Given the description of an element on the screen output the (x, y) to click on. 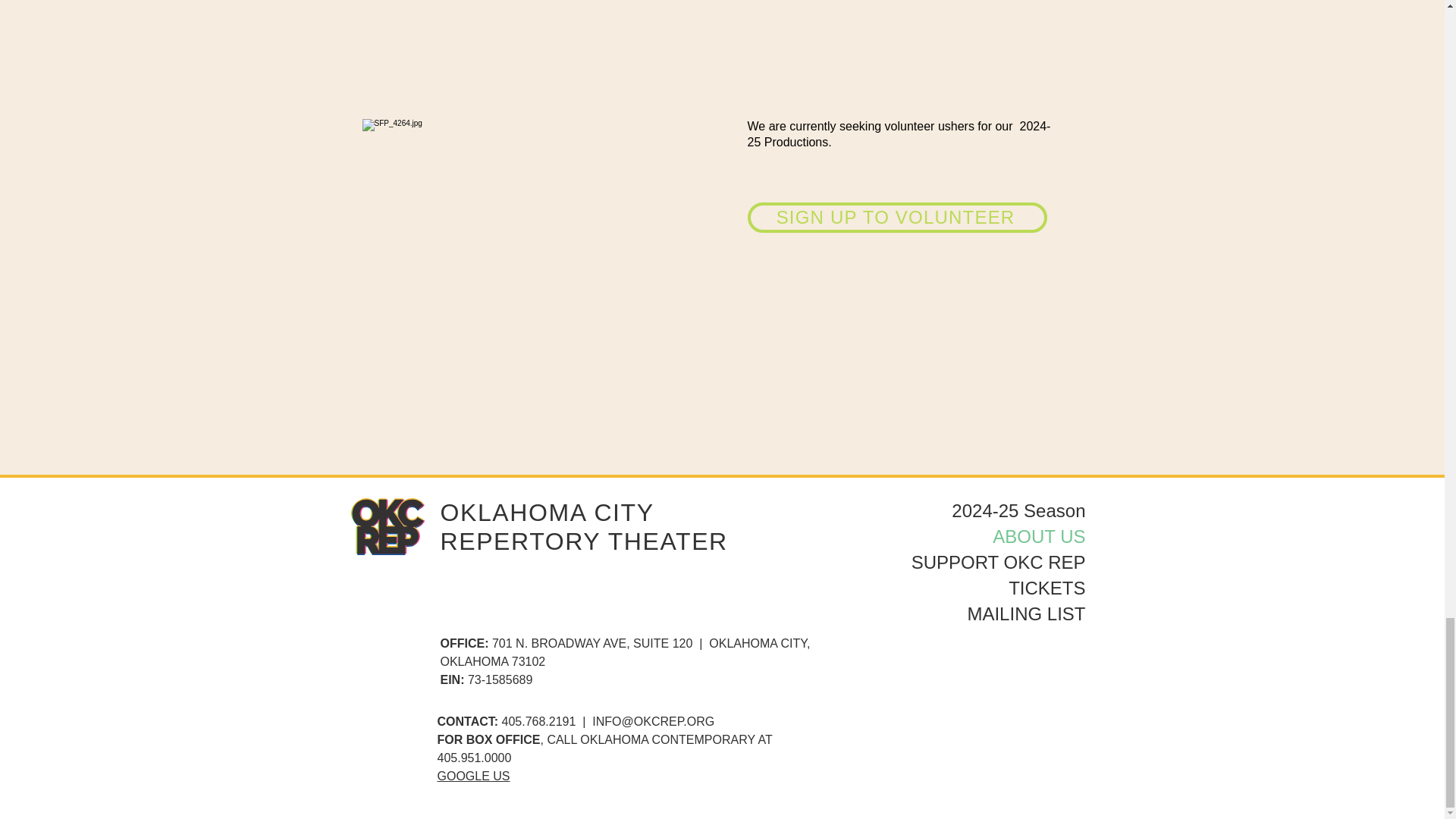
ABOUT US (998, 536)
2024-25 Season (998, 510)
SIGN UP TO VOLUNTEER (897, 217)
